Given the description of an element on the screen output the (x, y) to click on. 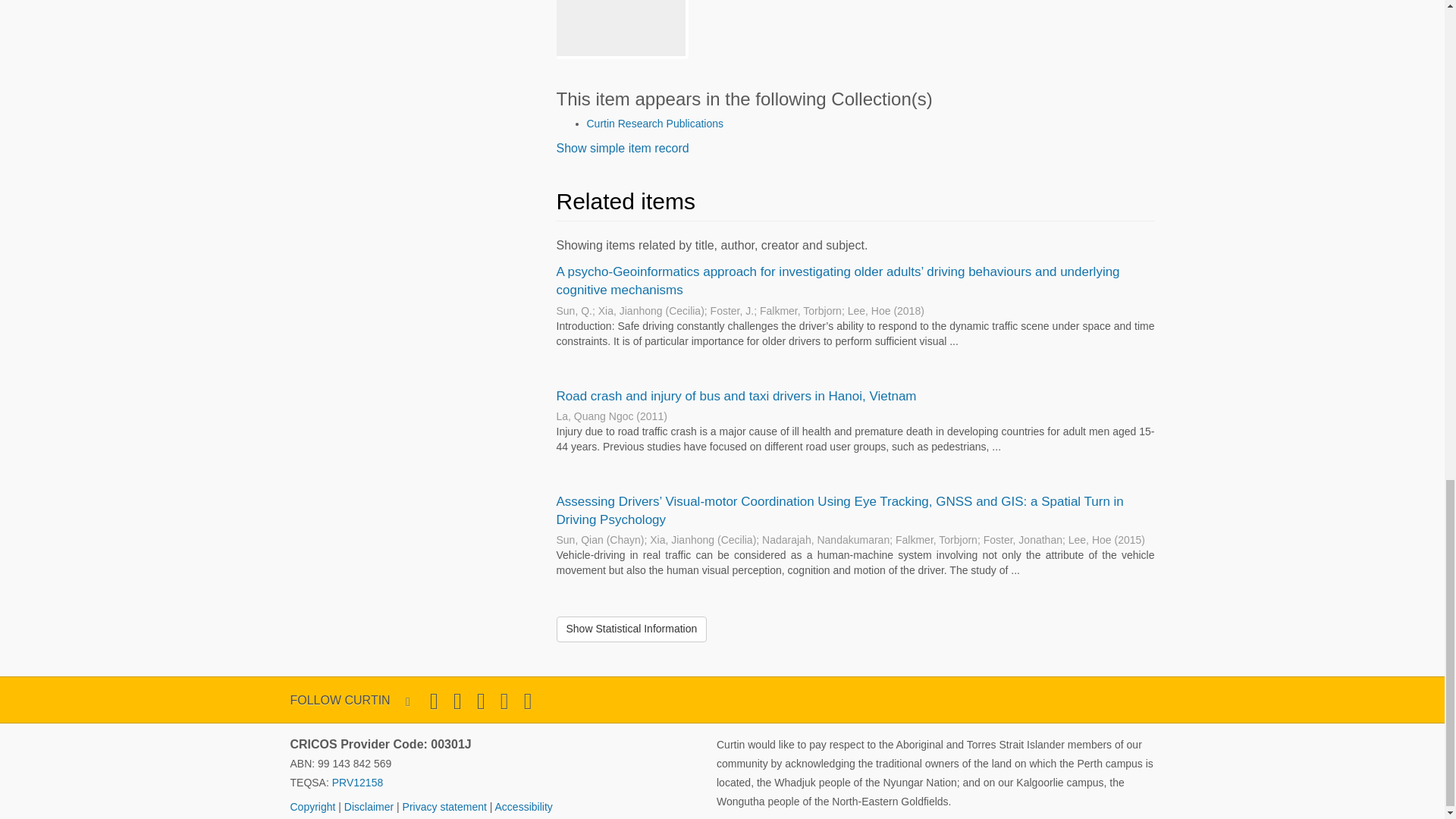
Curtin Research Publications (654, 123)
Show Statistical Information (631, 629)
Show simple item record (622, 147)
